Given the description of an element on the screen output the (x, y) to click on. 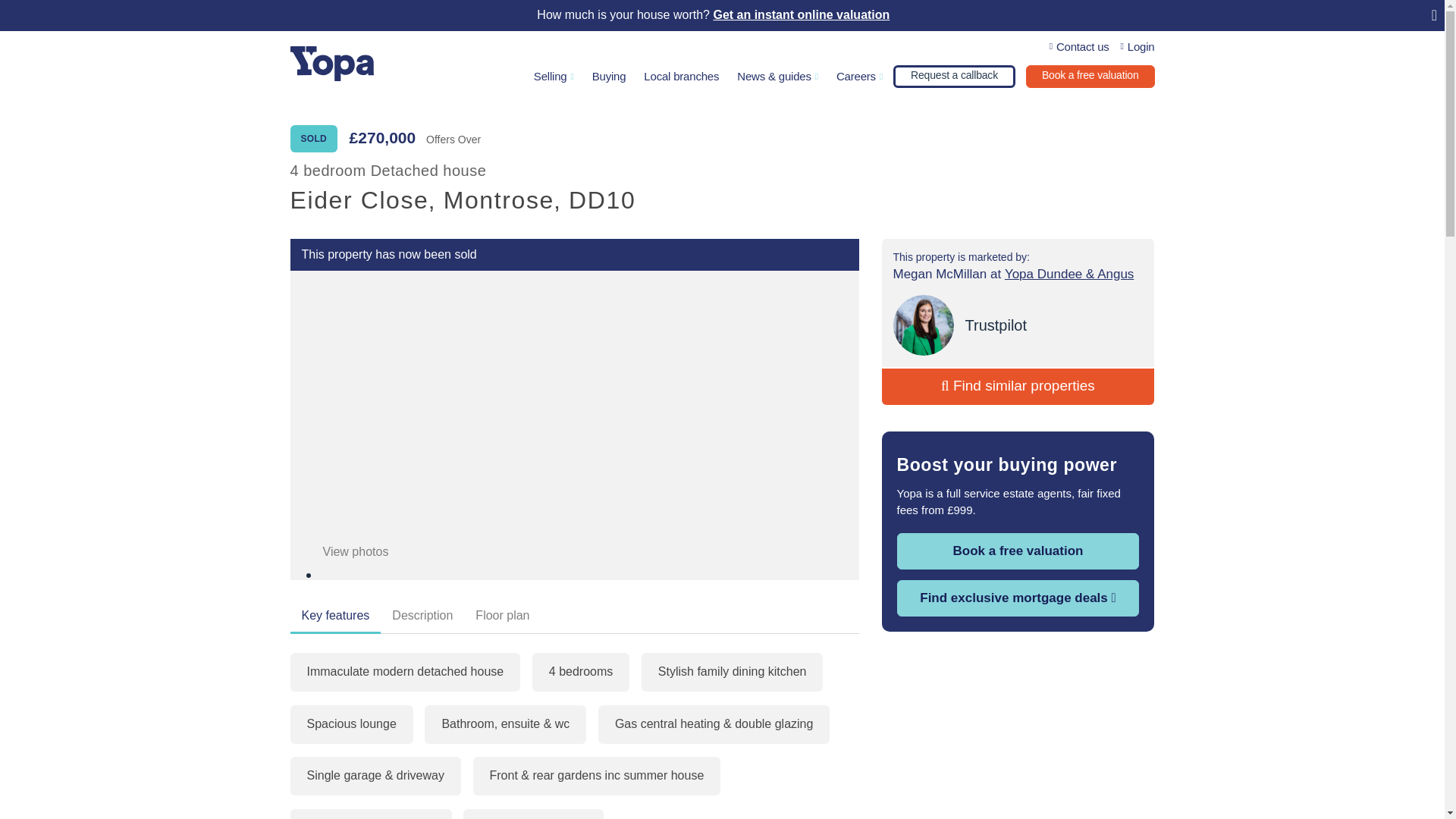
Get an instant online valuation (801, 15)
Stylish family dining kitchen (733, 671)
Find similar properties (1017, 386)
Contact us (1079, 47)
Spacious lounge (350, 724)
Request a callback (953, 76)
A great family home (533, 814)
4 bedrooms (581, 671)
Immaculate modern detached house (404, 671)
Login (1137, 47)
